Given the description of an element on the screen output the (x, y) to click on. 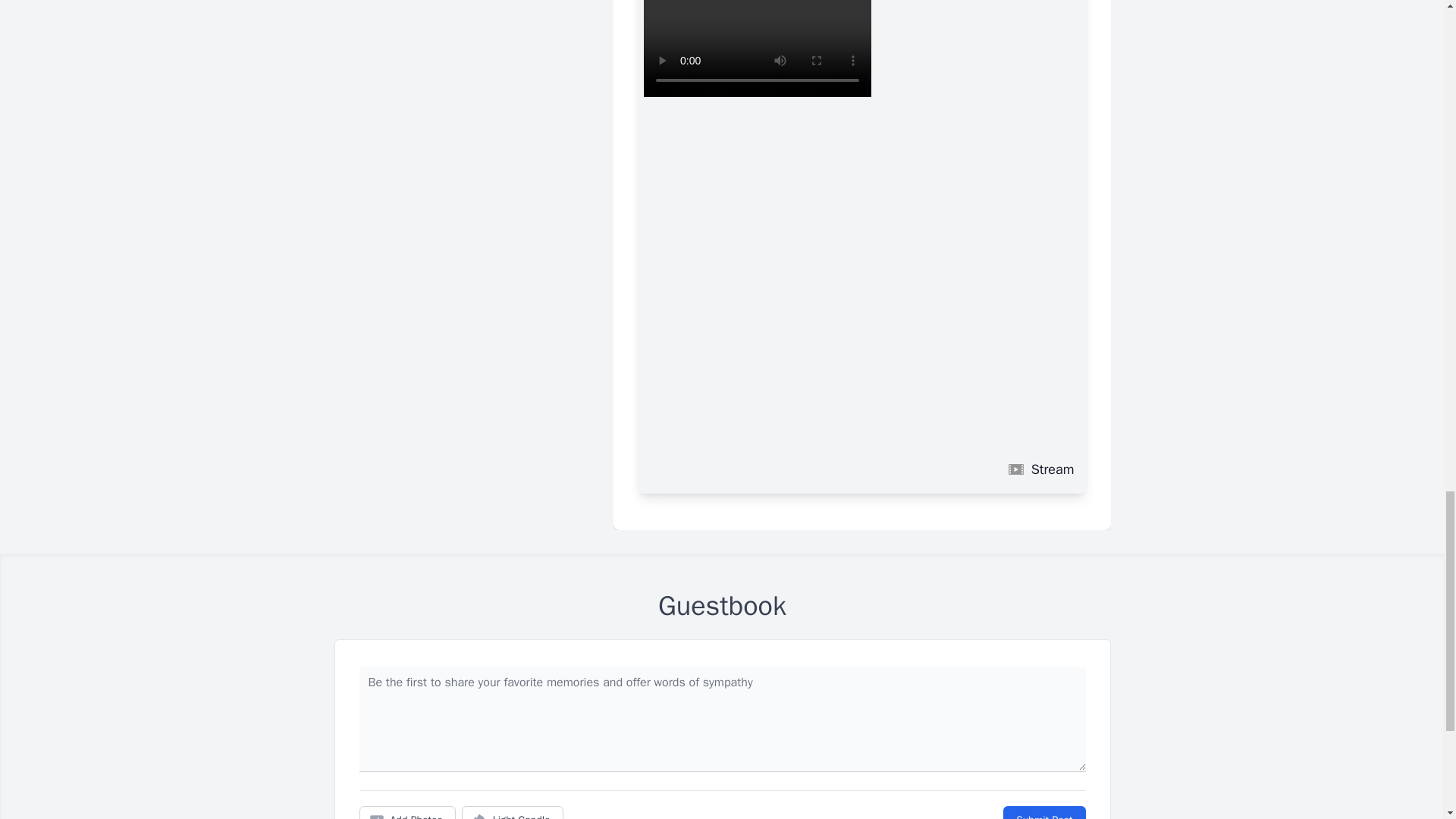
Add Photos (407, 812)
Submit Post (1043, 812)
Light Candle (512, 812)
